Given the description of an element on the screen output the (x, y) to click on. 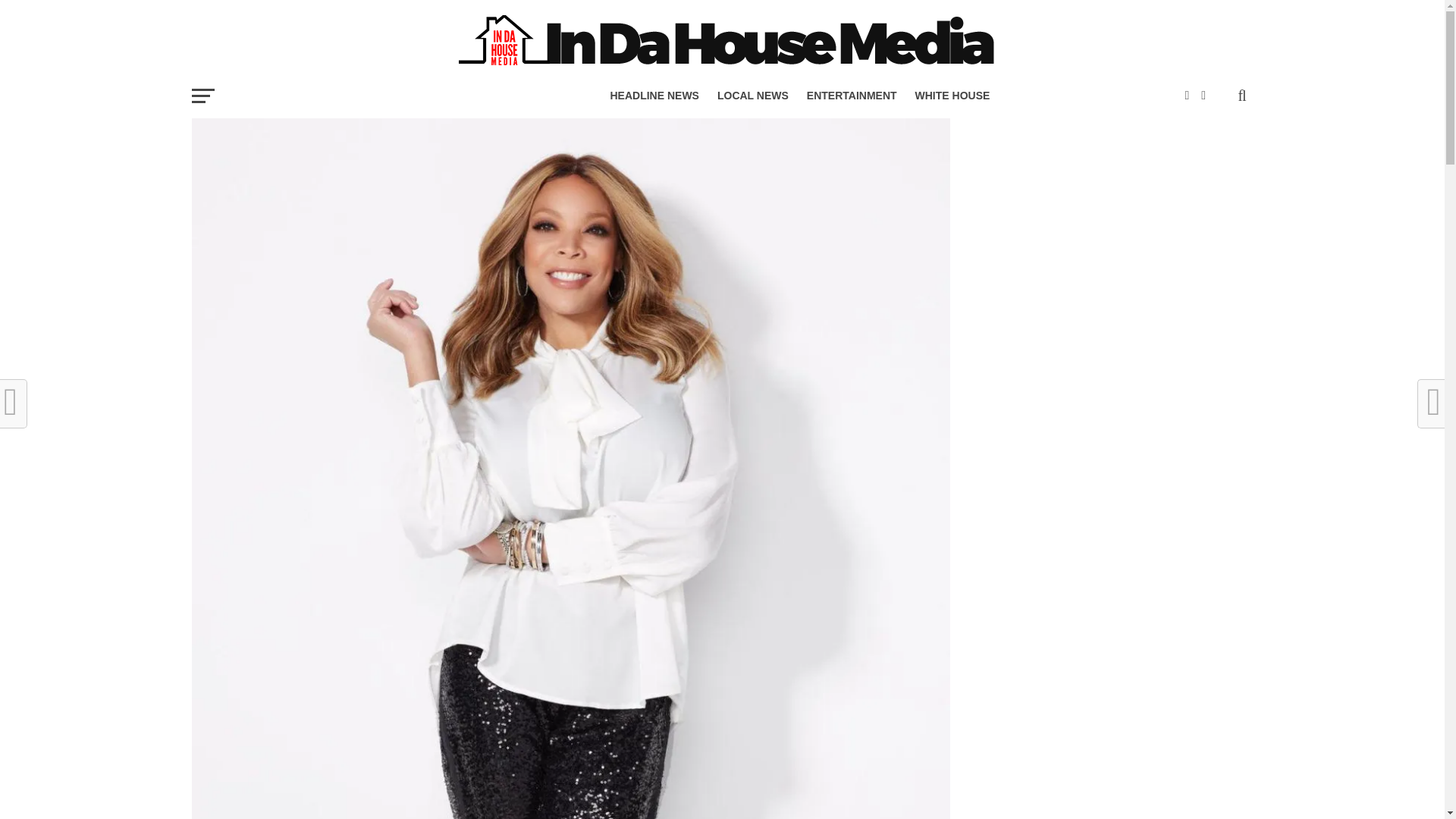
HEADLINE NEWS (653, 94)
ENTERTAINMENT (851, 94)
LOCAL NEWS (752, 94)
WHITE HOUSE (951, 94)
